Given the description of an element on the screen output the (x, y) to click on. 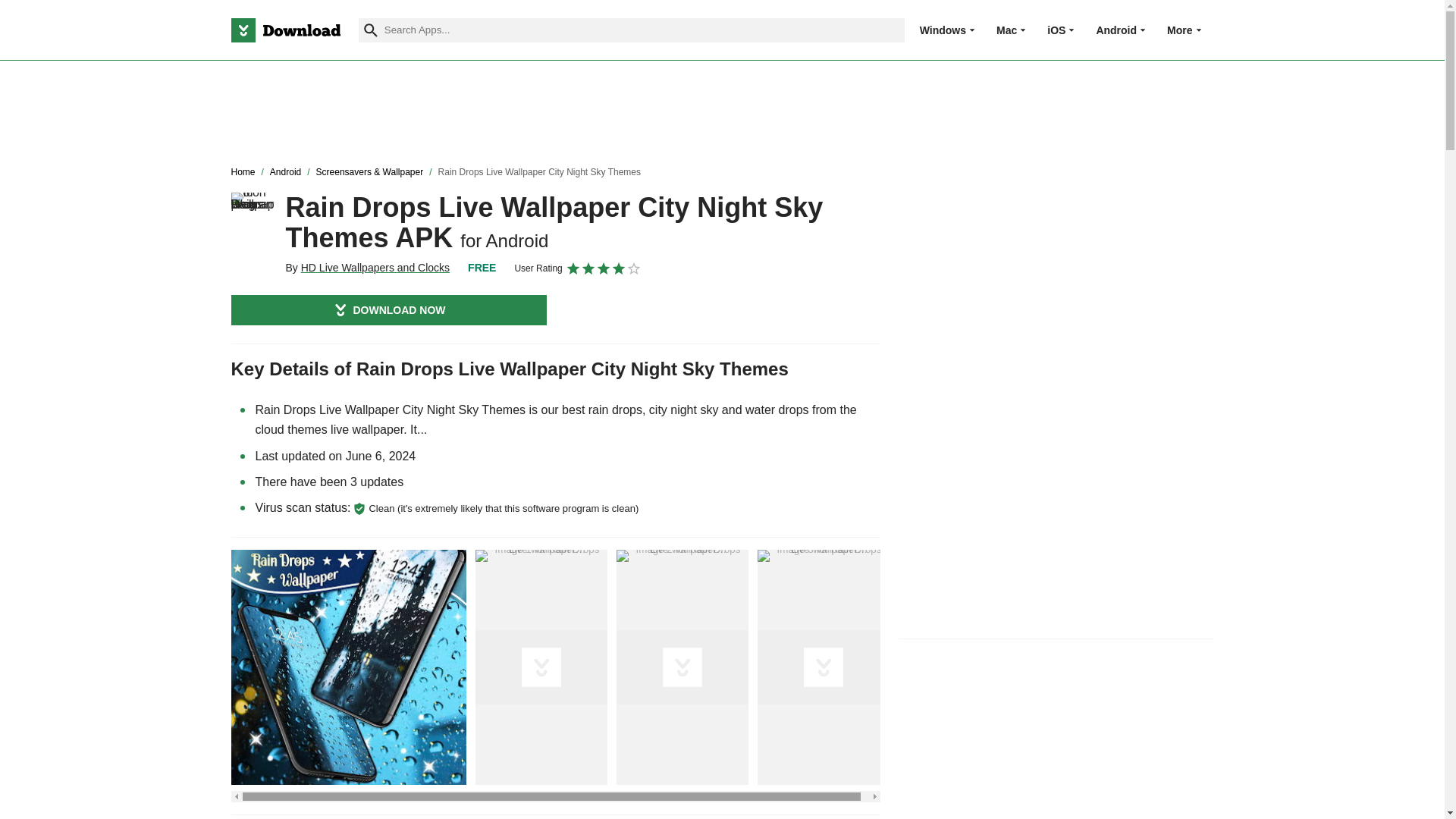
Windows (943, 29)
Mac (1005, 29)
